Given the description of an element on the screen output the (x, y) to click on. 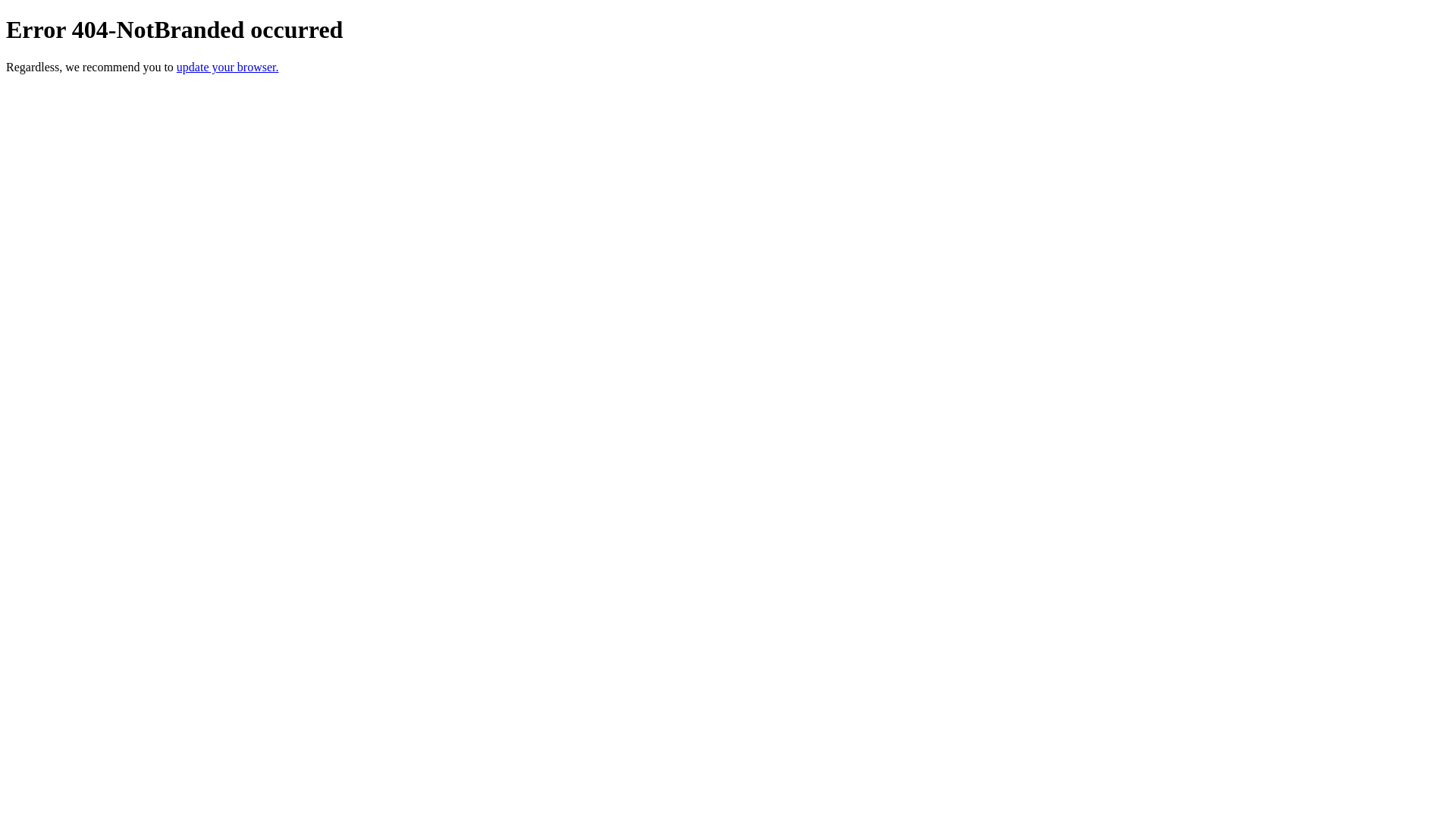
update your browser. Element type: text (227, 66)
